Given the description of an element on the screen output the (x, y) to click on. 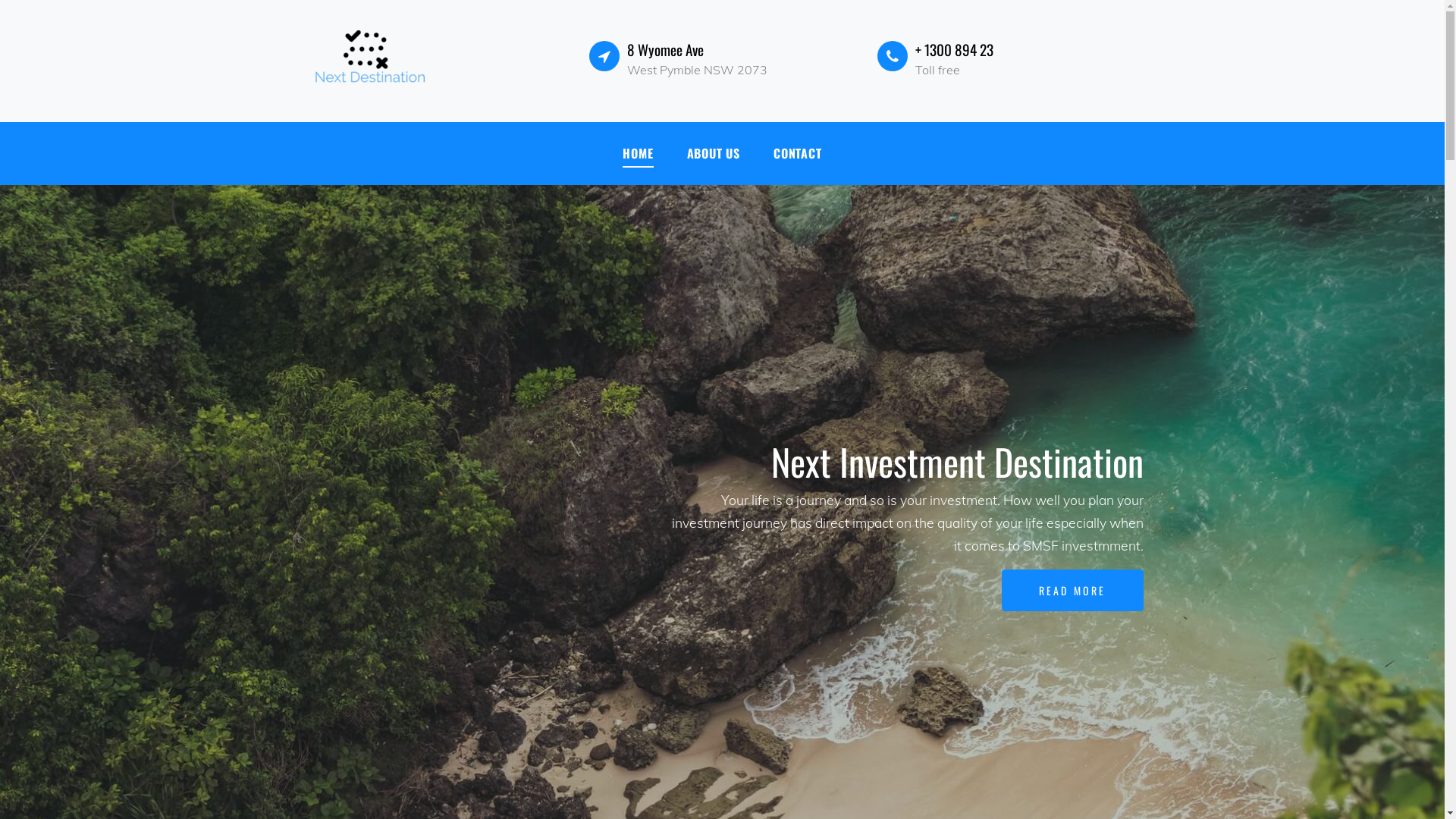
CONTACT Element type: text (797, 153)
READ MORE Element type: text (1072, 590)
ABOUT US Element type: text (713, 153)
HOME Element type: text (637, 153)
